Given the description of an element on the screen output the (x, y) to click on. 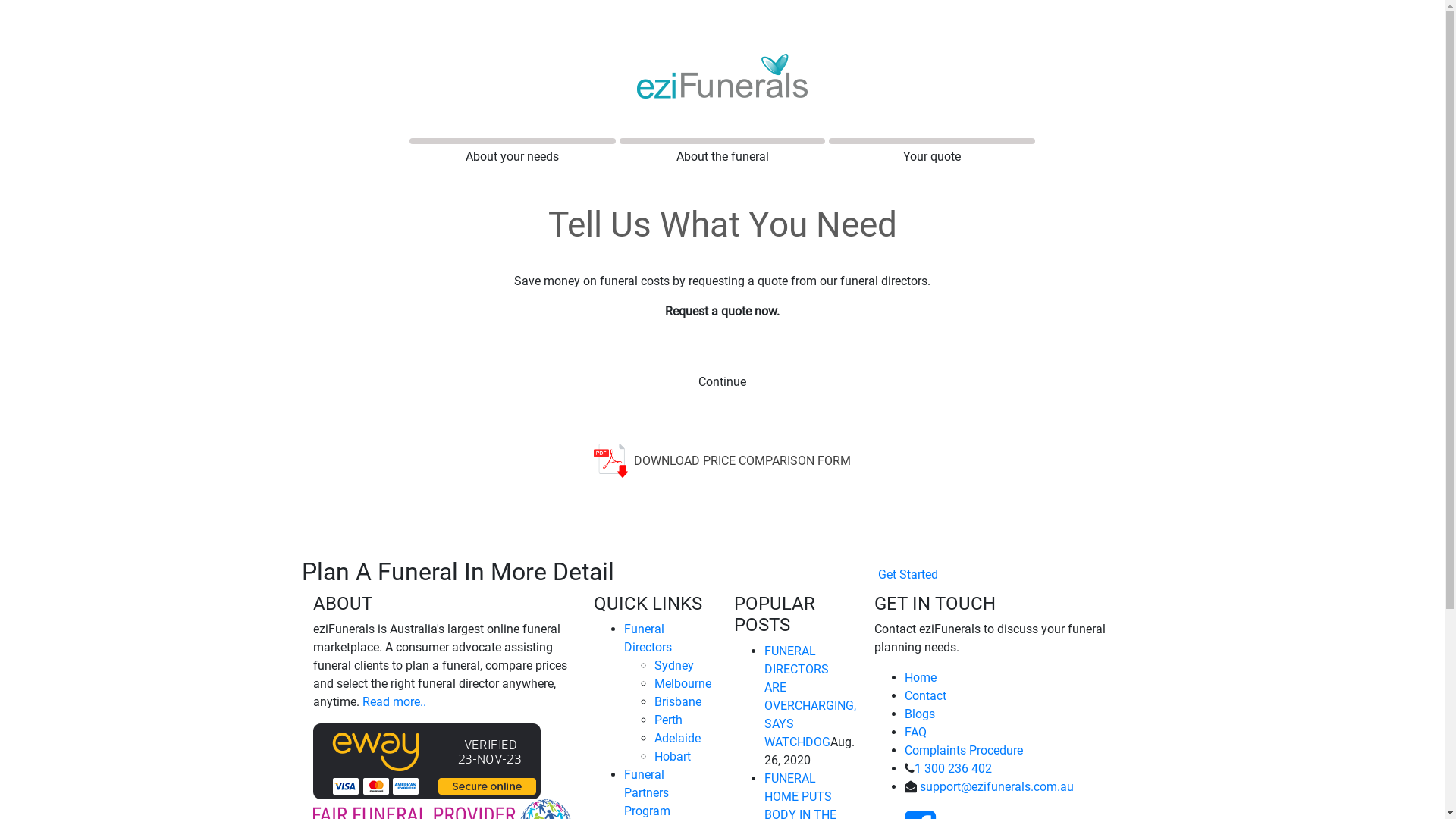
Get Started Element type: text (908, 574)
Complaints Procedure Element type: text (962, 750)
Continue Element type: text (722, 382)
Home Element type: text (919, 677)
Brisbane Element type: text (676, 701)
FUNERAL DIRECTORS ARE OVERCHARGING, SAYS WATCHDOG Element type: text (810, 696)
Funeral Directors Element type: text (647, 637)
Adelaide Element type: text (676, 738)
eWAY Payment Gateway Element type: hover (425, 760)
DOWNLOAD PRICE COMPARISON FORM Element type: text (722, 460)
Blogs Element type: text (918, 713)
1 300 236 402 Element type: text (952, 768)
Sydney Element type: text (673, 665)
FAQ Element type: text (914, 731)
Melbourne Element type: text (681, 683)
Perth Element type: text (667, 719)
Hobart Element type: text (671, 756)
Contact Element type: text (924, 695)
support@ezifunerals.com.au Element type: text (996, 786)
Read more.. Element type: text (394, 701)
Funeral Partners Program Element type: text (646, 792)
